Given the description of an element on the screen output the (x, y) to click on. 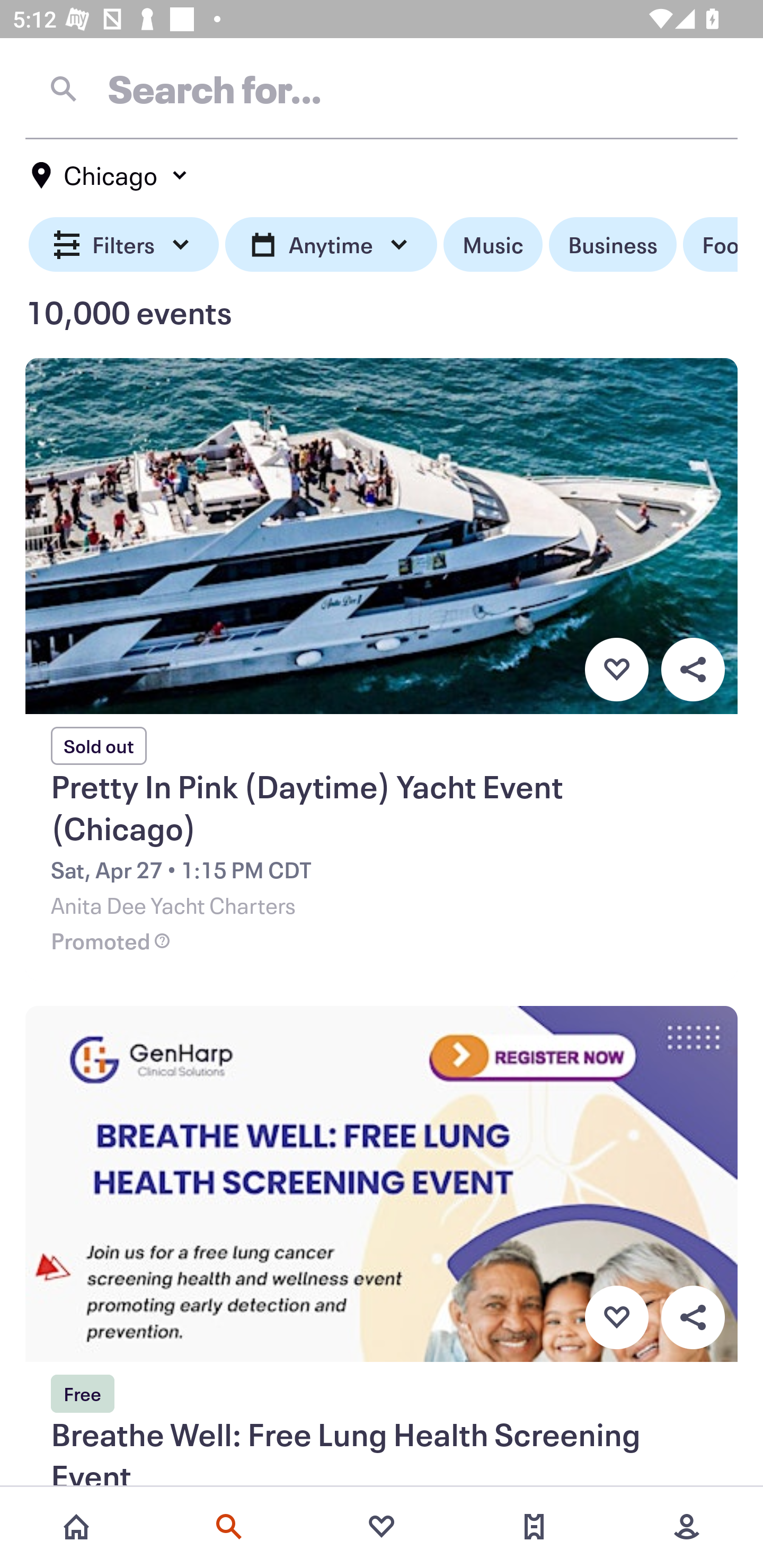
Search for… (381, 88)
Chicago (110, 175)
Filters (123, 244)
Anytime (331, 244)
Music (492, 244)
Business (612, 244)
Favorite button (616, 669)
Overflow menu button (692, 669)
Favorite button (616, 1317)
Overflow menu button (692, 1317)
Home (76, 1526)
Search events (228, 1526)
Favorites (381, 1526)
Tickets (533, 1526)
More (686, 1526)
